Given the description of an element on the screen output the (x, y) to click on. 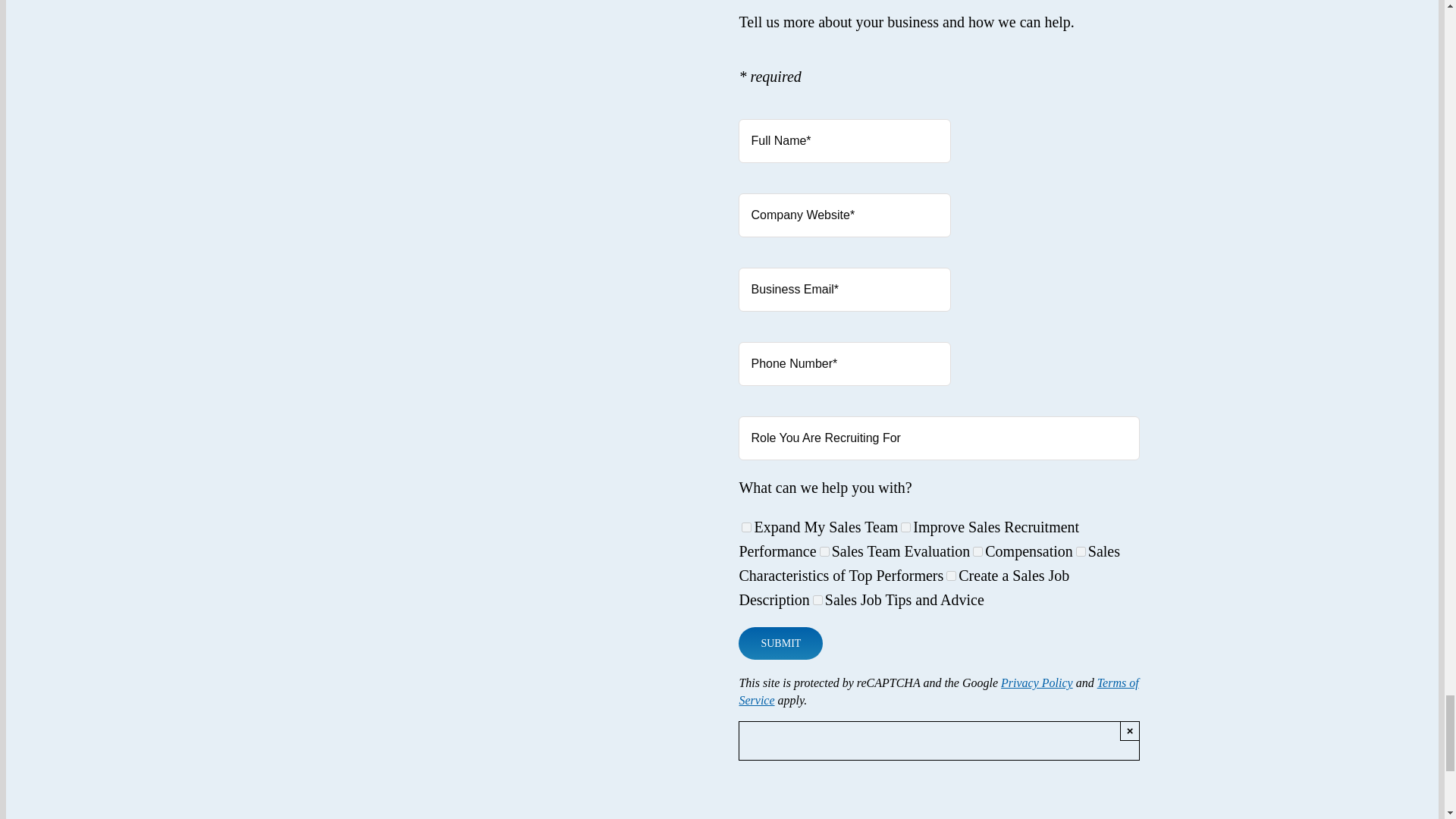
Sales Job Tips and Advice (817, 600)
Sales Team Evaluation (824, 551)
Improve Sales Recruitment Performance (906, 527)
Compensation (977, 551)
Create a Sales Job Description (951, 575)
Submit (780, 643)
Sales Characteristics of Top Performers (1080, 551)
Expand My Sales Team (746, 527)
